Given the description of an element on the screen output the (x, y) to click on. 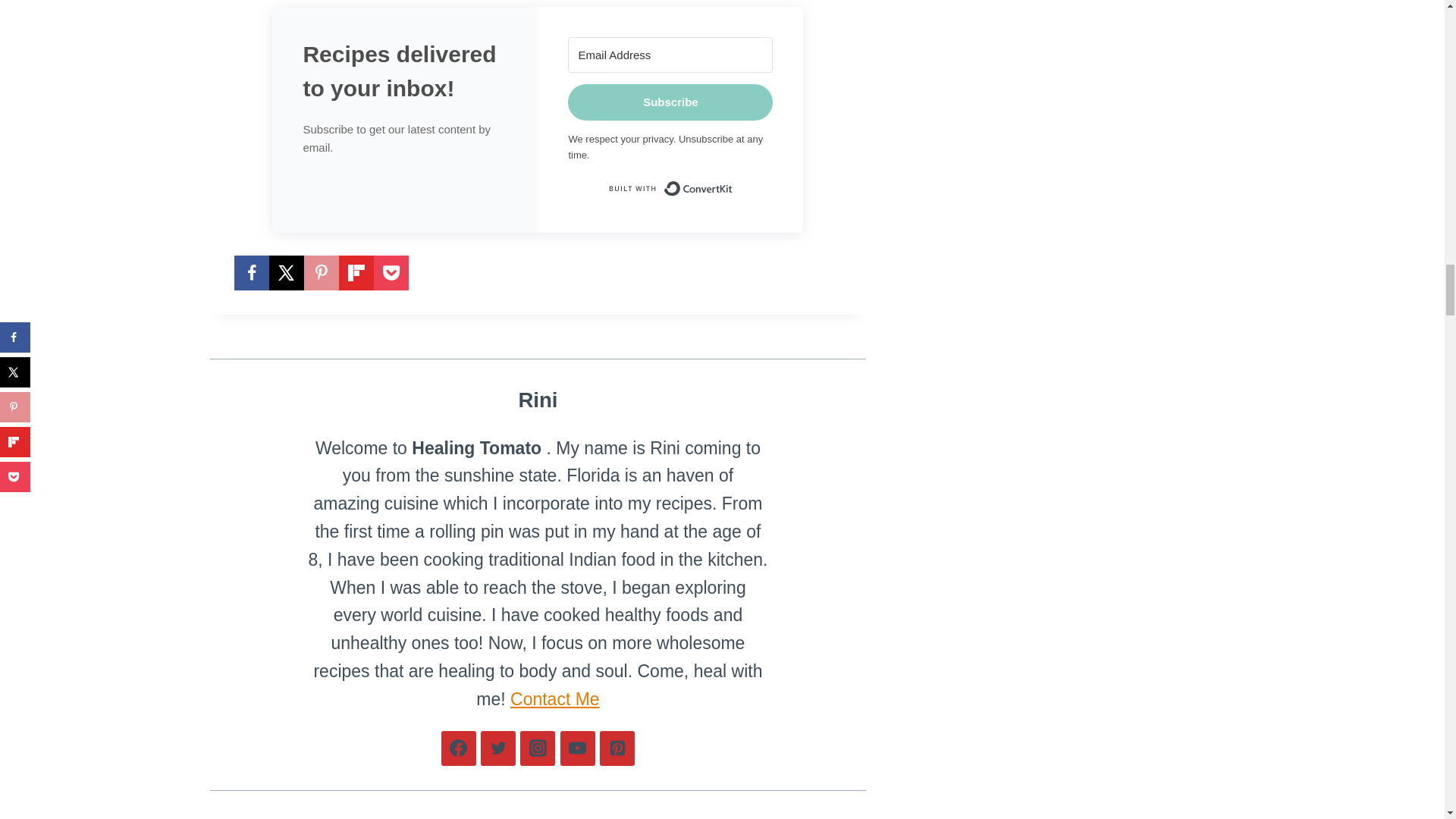
Save to Pinterest (319, 272)
Share on X (284, 272)
Share on Flipboard (354, 272)
Share on Facebook (249, 272)
